Given the description of an element on the screen output the (x, y) to click on. 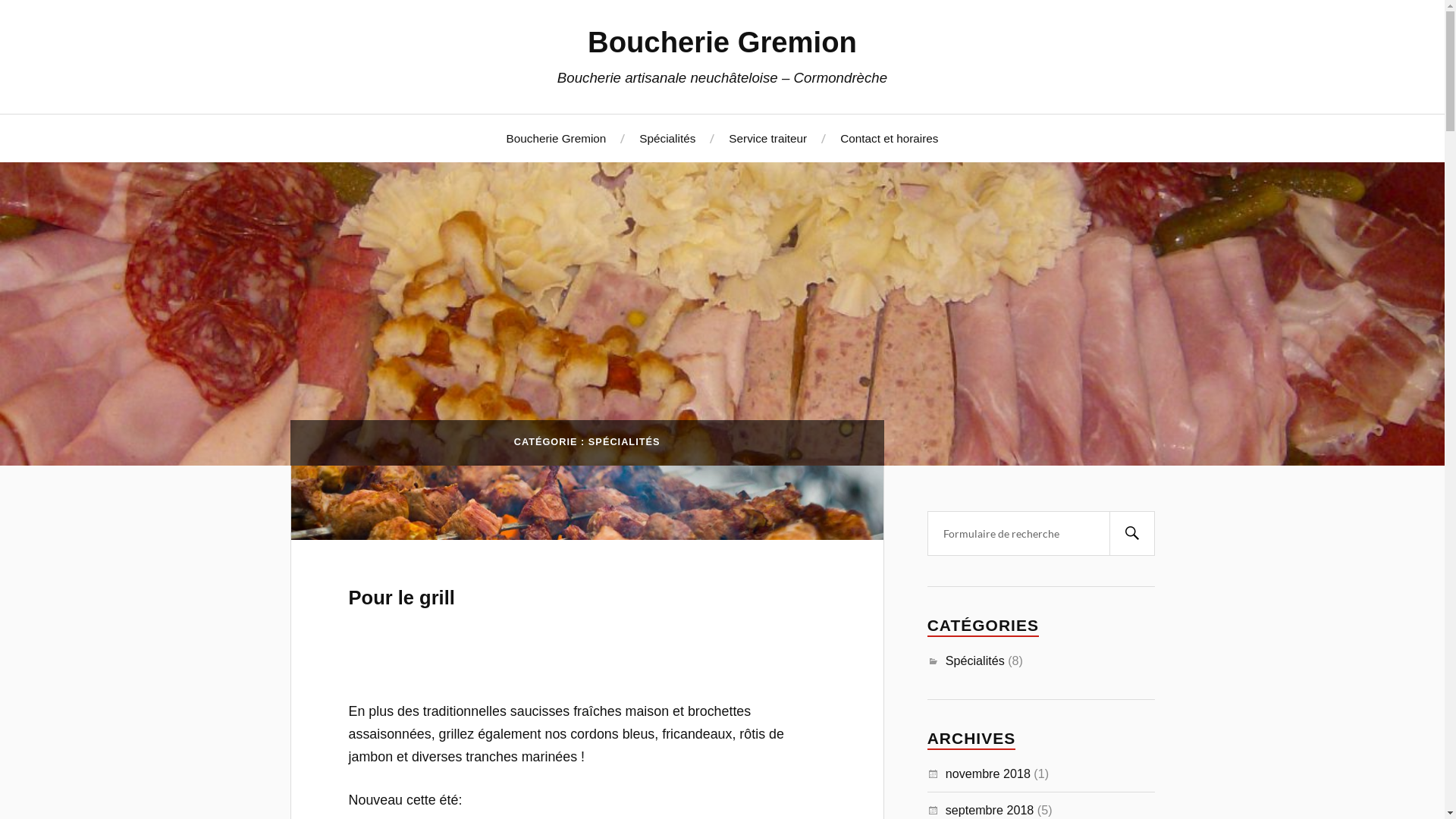
Service traiteur Element type: text (767, 137)
Boucherie Gremion Element type: text (556, 137)
Contact et horaires Element type: text (889, 137)
novembre 2018 Element type: text (987, 773)
Pour le grill Element type: text (401, 597)
septembre 2018 Element type: text (989, 809)
Pour le grill Element type: hover (587, 502)
Boucherie Gremion Element type: text (721, 41)
